Given the description of an element on the screen output the (x, y) to click on. 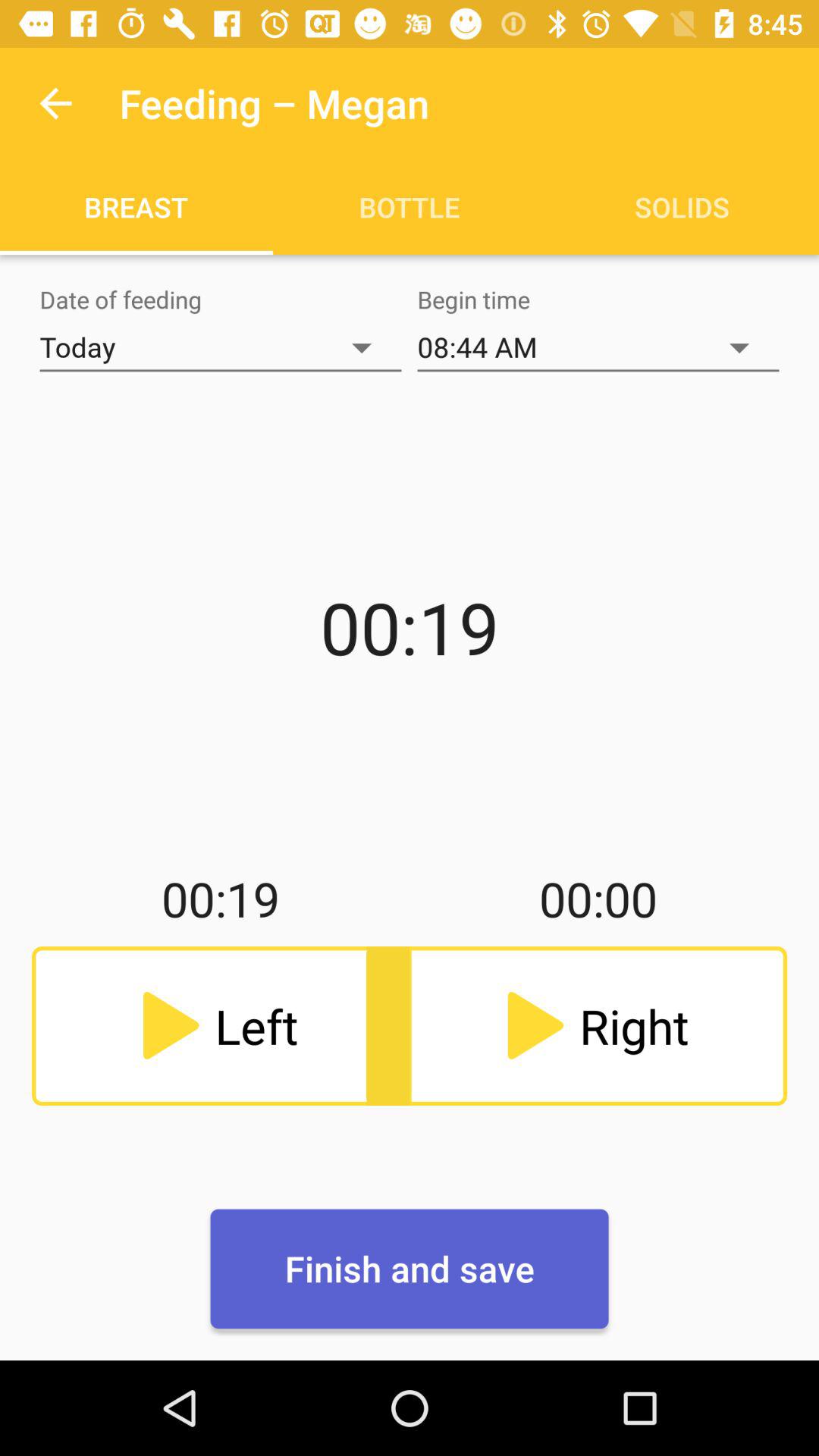
press the icon below the breast icon (220, 347)
